Given the description of an element on the screen output the (x, y) to click on. 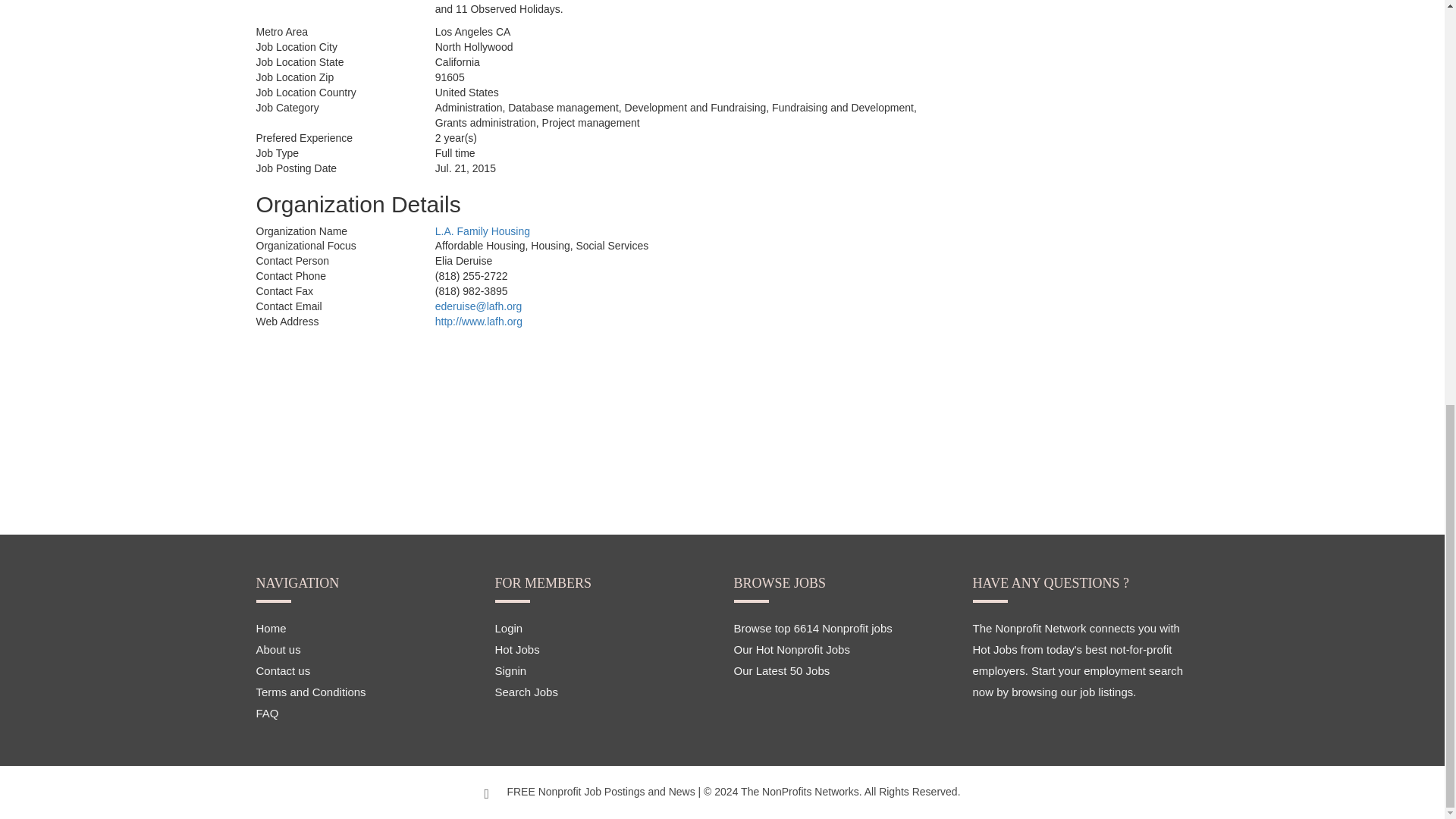
L.A. Family Housing (482, 230)
Hot Jobs (516, 649)
Search Jobs (526, 691)
Contact us (283, 670)
Nonprofit in North Hollywood ca (478, 321)
Our Hot Nonprofit Jobs (791, 649)
Terms and Conditions (311, 691)
About us (278, 649)
Signin (510, 670)
Advertisement (1032, 27)
